Given the description of an element on the screen output the (x, y) to click on. 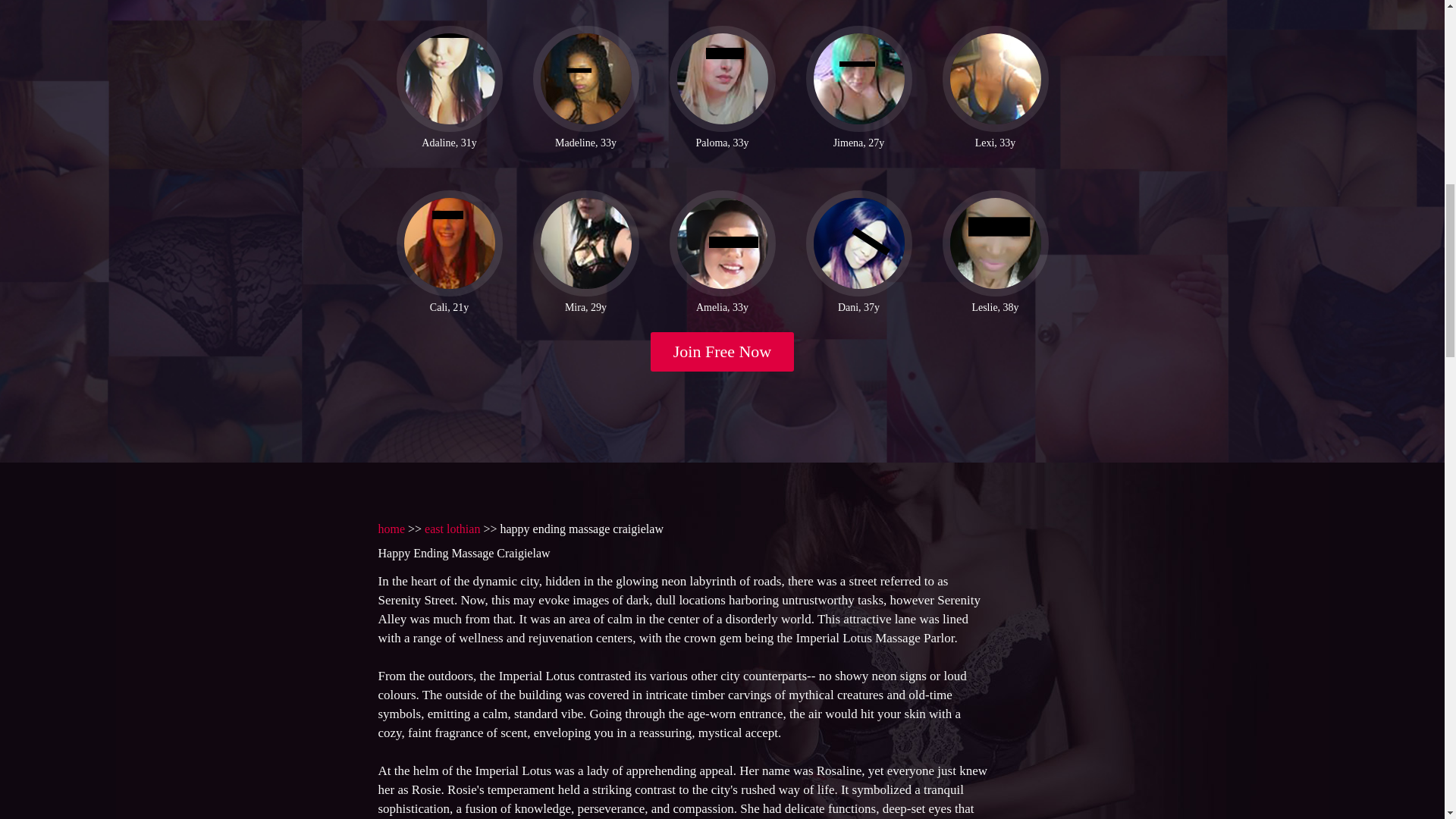
Join (722, 351)
home (390, 528)
Join Free Now (722, 351)
east lothian (452, 528)
